Given the description of an element on the screen output the (x, y) to click on. 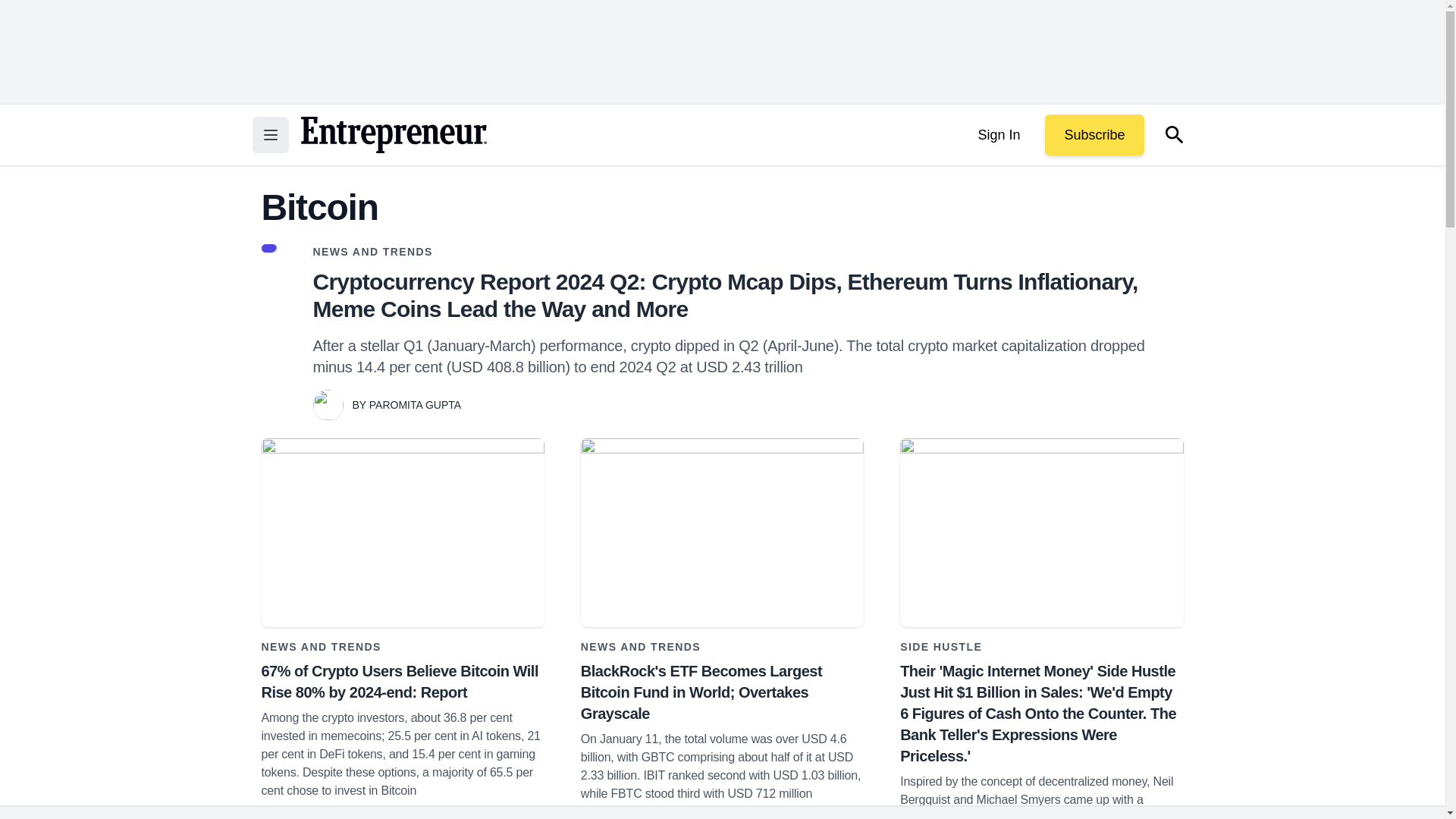
Subscribe (1093, 134)
Sign In (998, 134)
Return to the home page (392, 135)
